Given the description of an element on the screen output the (x, y) to click on. 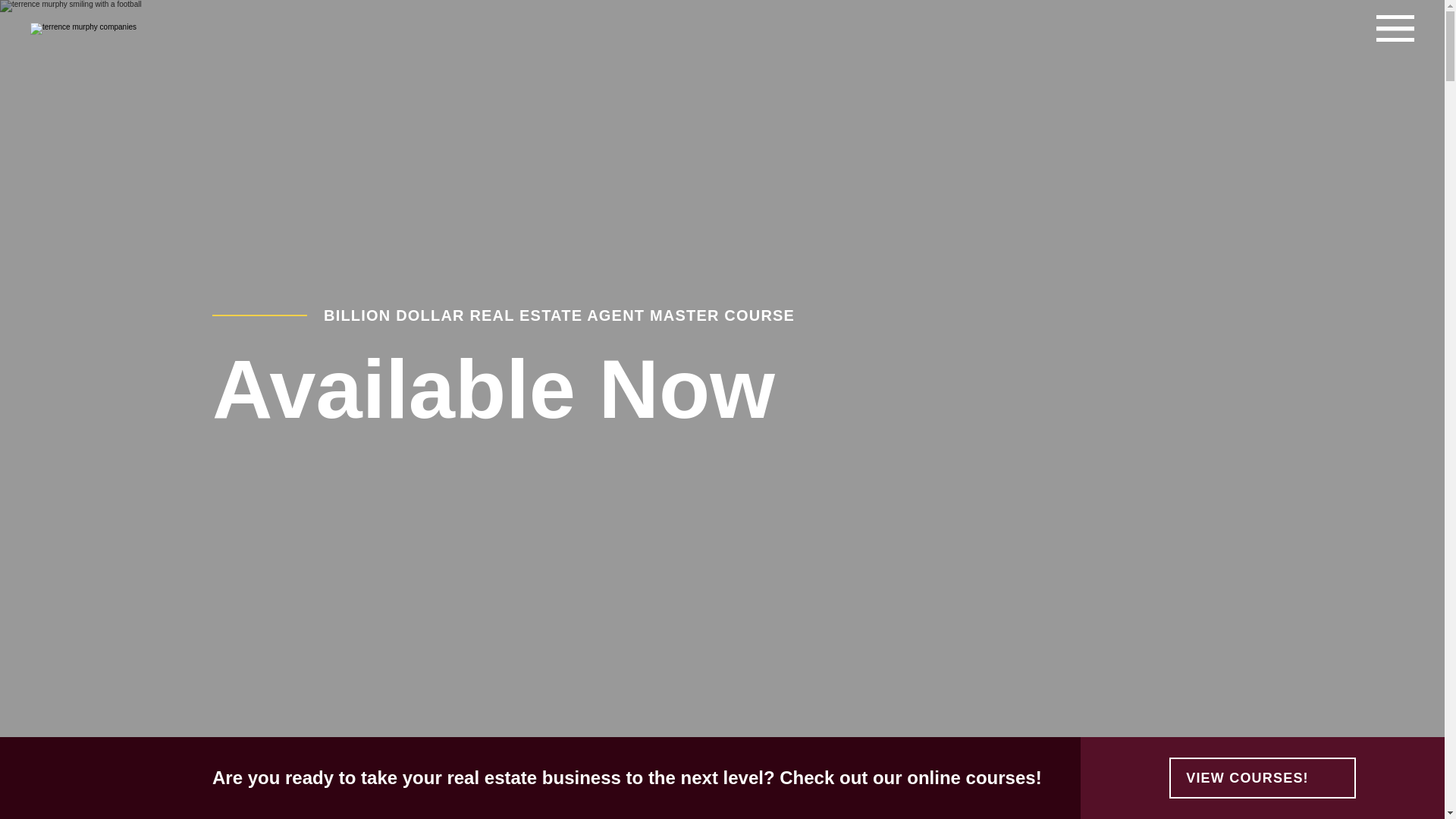
VIEW COURSES! (1262, 777)
